Given the description of an element on the screen output the (x, y) to click on. 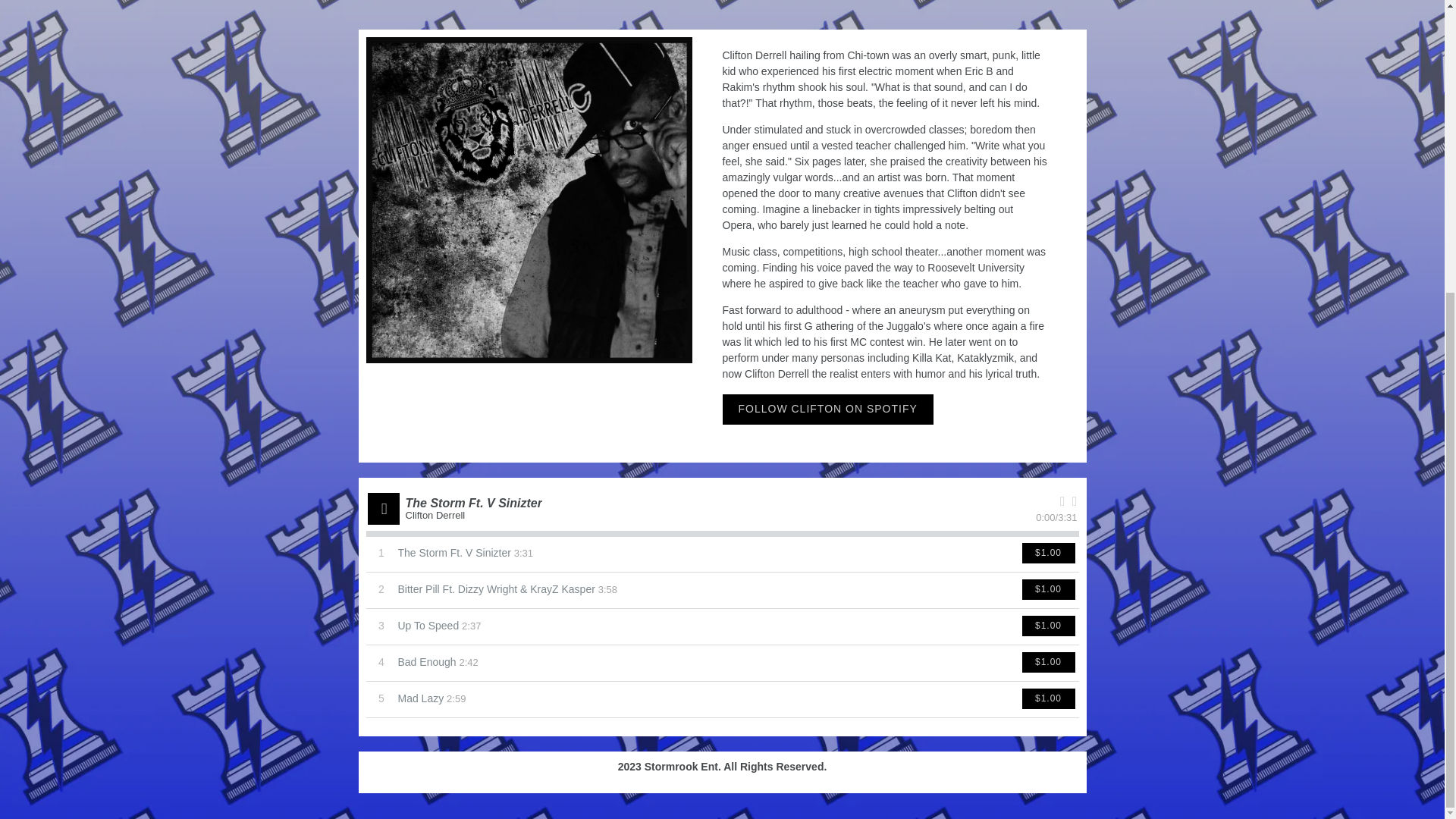
Up To Speed (427, 625)
The Storm Ft. V Sinizter (454, 553)
Bad Enough (426, 662)
